Given the description of an element on the screen output the (x, y) to click on. 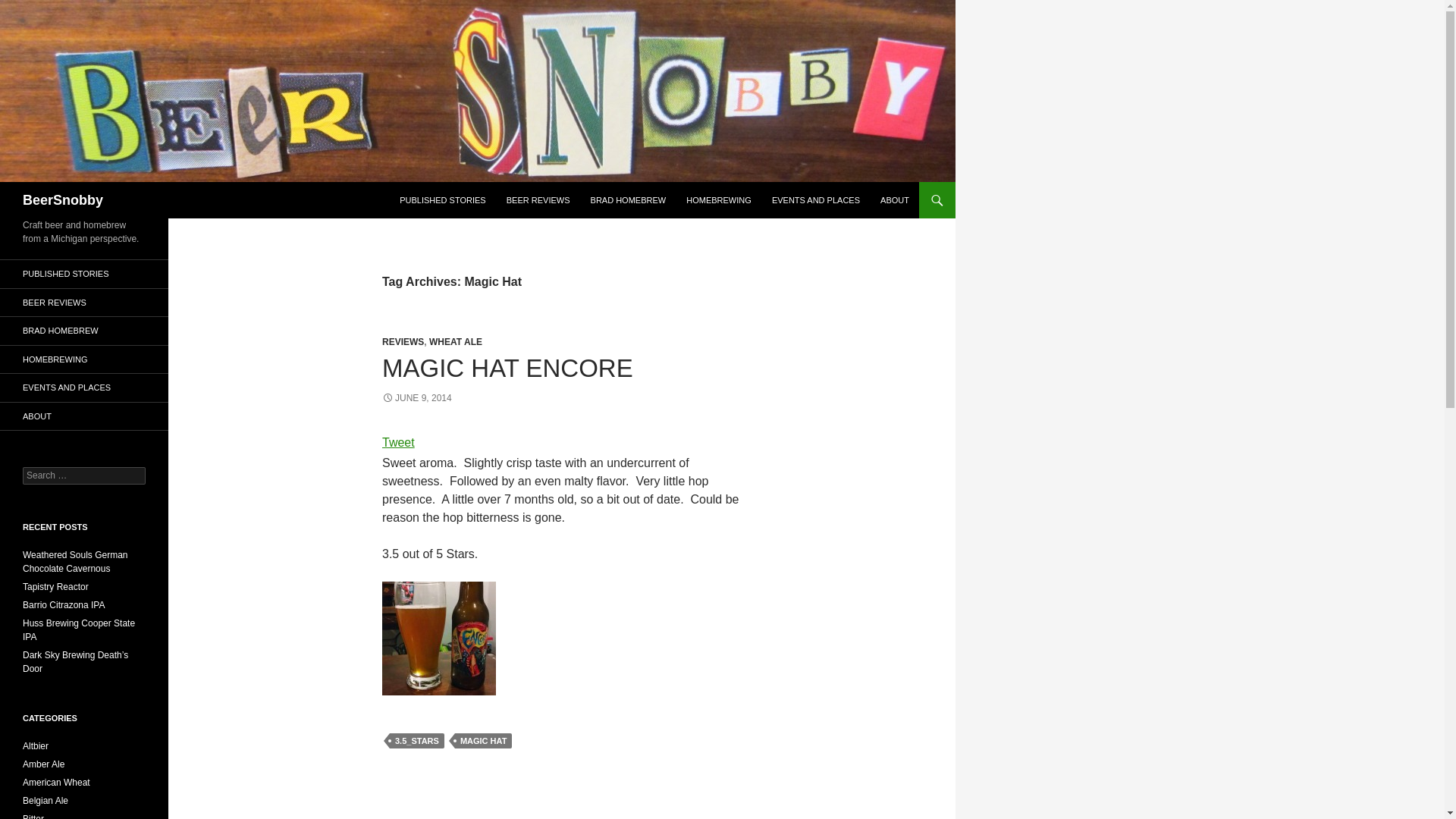
BRAD HOMEBREW (84, 330)
Bitter (33, 816)
Huss Brewing Cooper State IPA (79, 630)
BEER REVIEWS (84, 302)
WHEAT ALE (455, 341)
REVIEWS (402, 341)
Amber Ale (43, 764)
ABOUT (84, 415)
Altbier (35, 746)
EVENTS AND PLACES (815, 199)
